Given the description of an element on the screen output the (x, y) to click on. 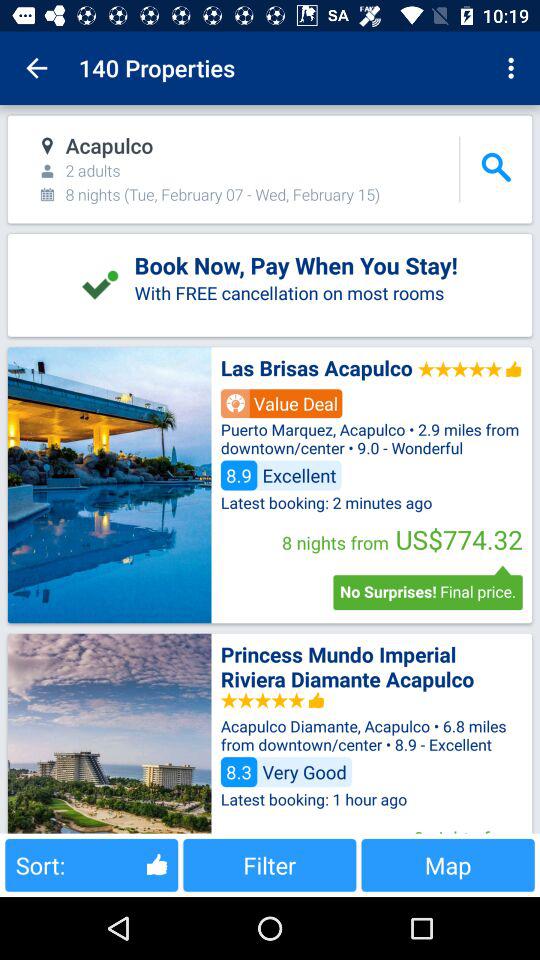
turn off the map icon (447, 864)
